Given the description of an element on the screen output the (x, y) to click on. 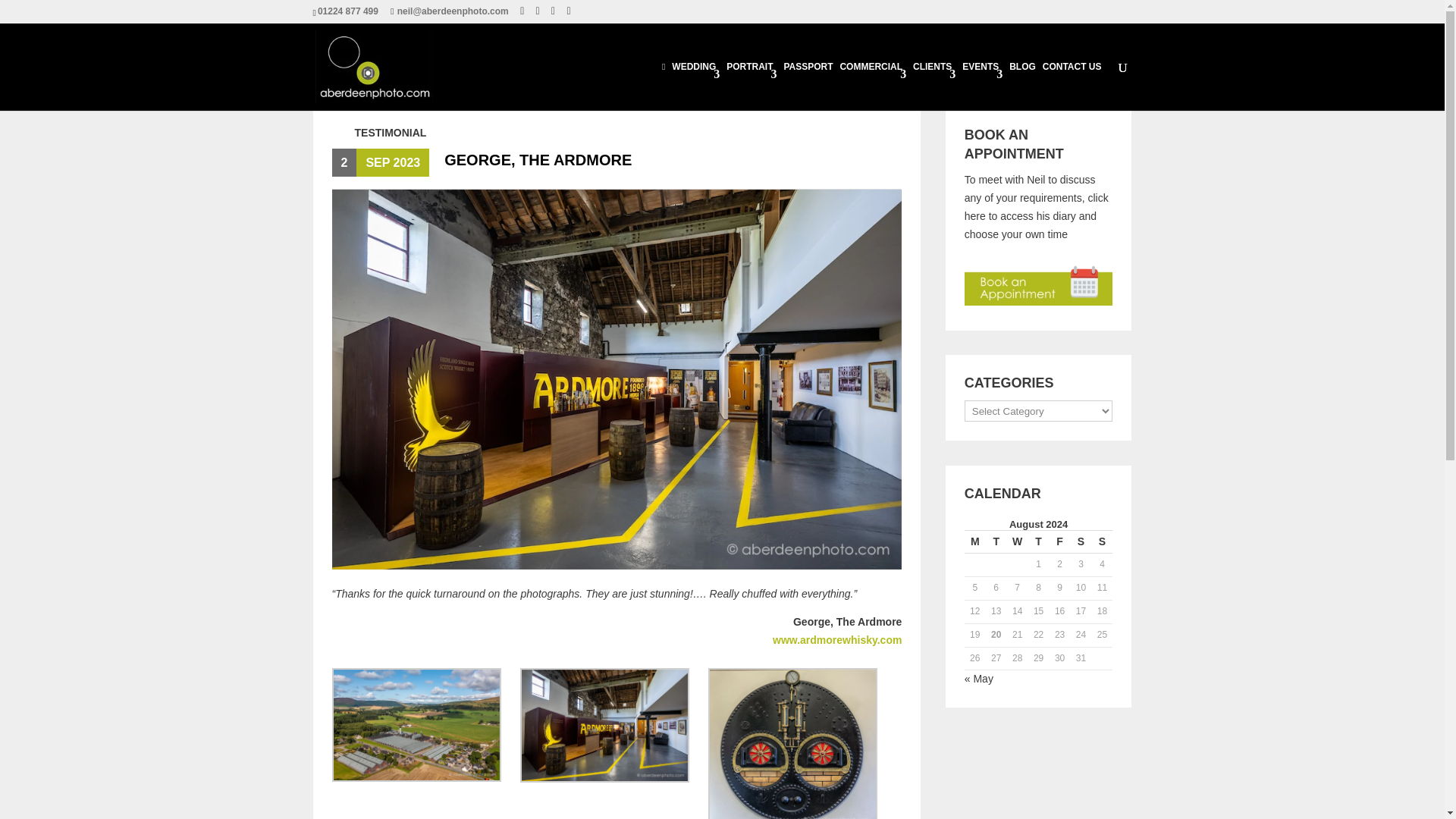
PASSPORT (807, 85)
WEDDING (695, 85)
Thursday (1038, 541)
Saturday (1081, 541)
COMMERCIAL (872, 85)
Tuesday (996, 541)
Monday (974, 541)
Sunday (1102, 541)
Wednesday (1017, 541)
PORTRAIT (751, 85)
